Given the description of an element on the screen output the (x, y) to click on. 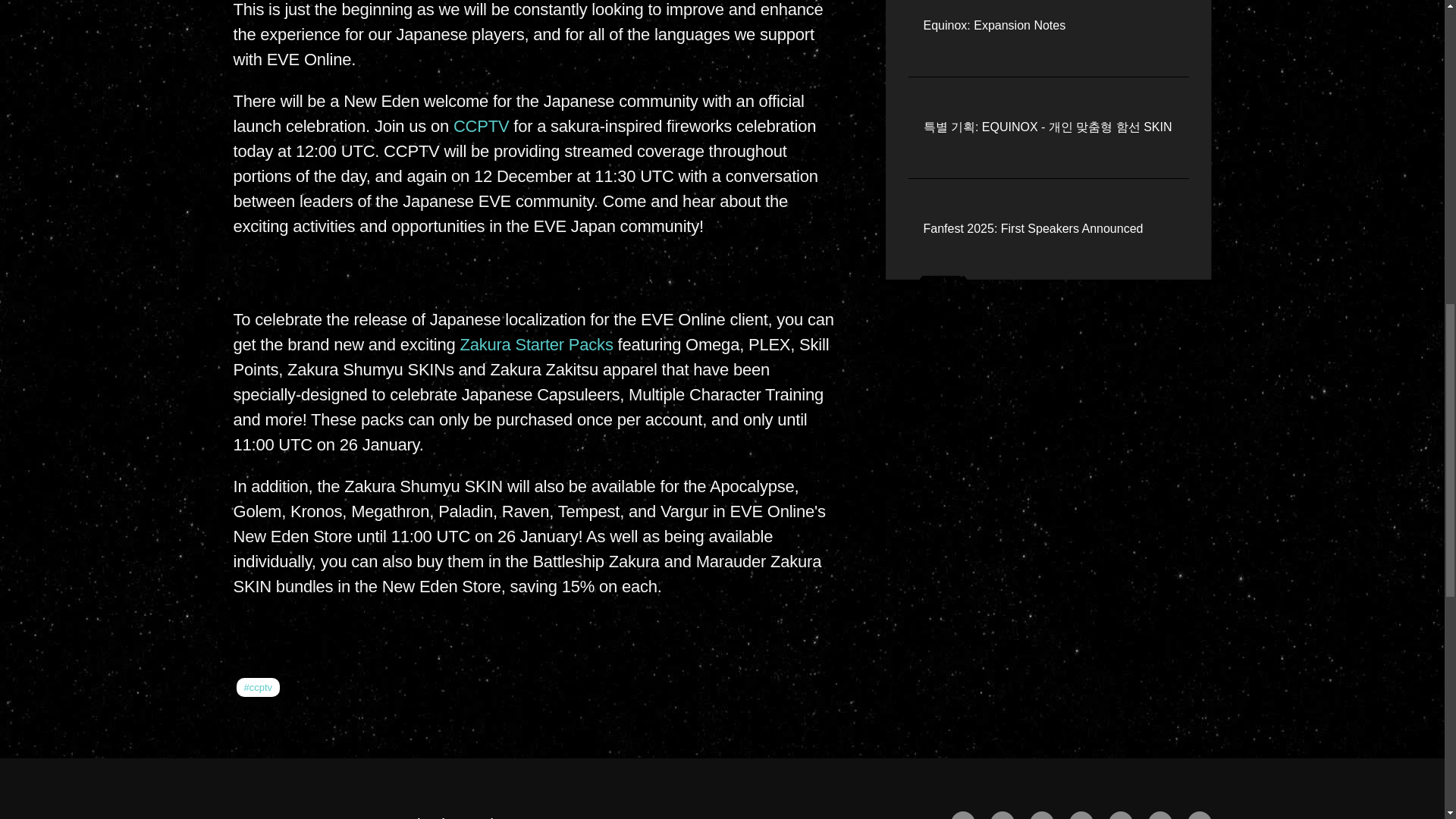
Instagram (1160, 815)
Fanfest 2025: First Speakers Announced (1032, 229)
VK (1199, 815)
Discord (1120, 815)
Facebook (962, 815)
YouTube (1041, 815)
Twitter (1002, 815)
Twitch (1080, 815)
Equinox: Expansion Notes (994, 25)
